Given the description of an element on the screen output the (x, y) to click on. 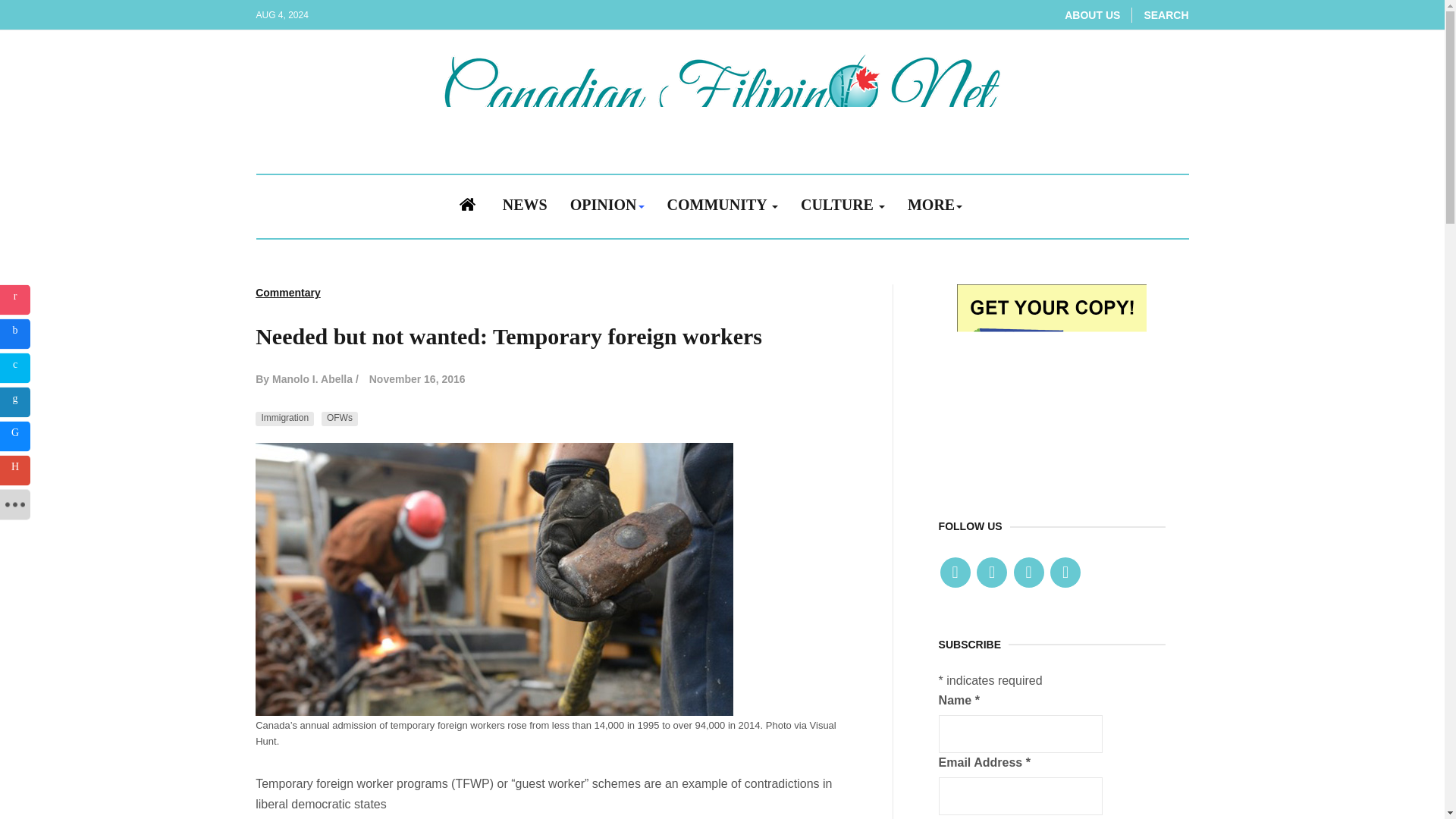
COMMUNITY (721, 205)
Category:  (288, 293)
CULTURE (842, 205)
Needed but not wanted: Temporary foreign workers (508, 336)
CFNET  (1051, 377)
Published:  (417, 379)
Written by:  (307, 379)
ABOUT US (1091, 14)
Canadian Filipino  (722, 98)
SEARCH (1165, 14)
